Given the description of an element on the screen output the (x, y) to click on. 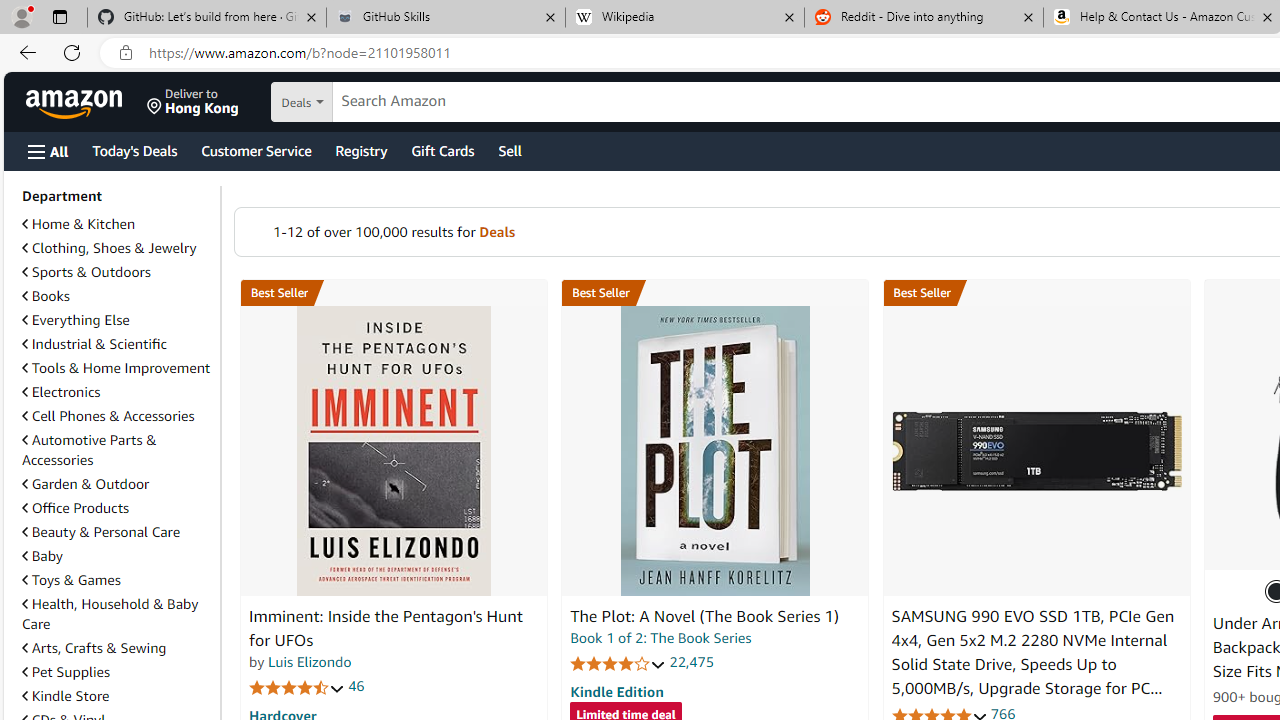
Best Seller in Internal Solid State Drives (1036, 293)
Office Products (117, 507)
Customer Service (256, 150)
The Plot: A Novel (The Book Series 1) (703, 616)
Tab actions menu (59, 16)
Garden & Outdoor (117, 483)
Baby (41, 556)
Books (117, 295)
Best Seller in Heist Thrillers (715, 293)
Imminent: Inside the Pentagon's Hunt for UFOs (386, 628)
Health, Household & Baby Care (117, 614)
View site information (125, 53)
Automotive Parts & Accessories (117, 449)
